Given the description of an element on the screen output the (x, y) to click on. 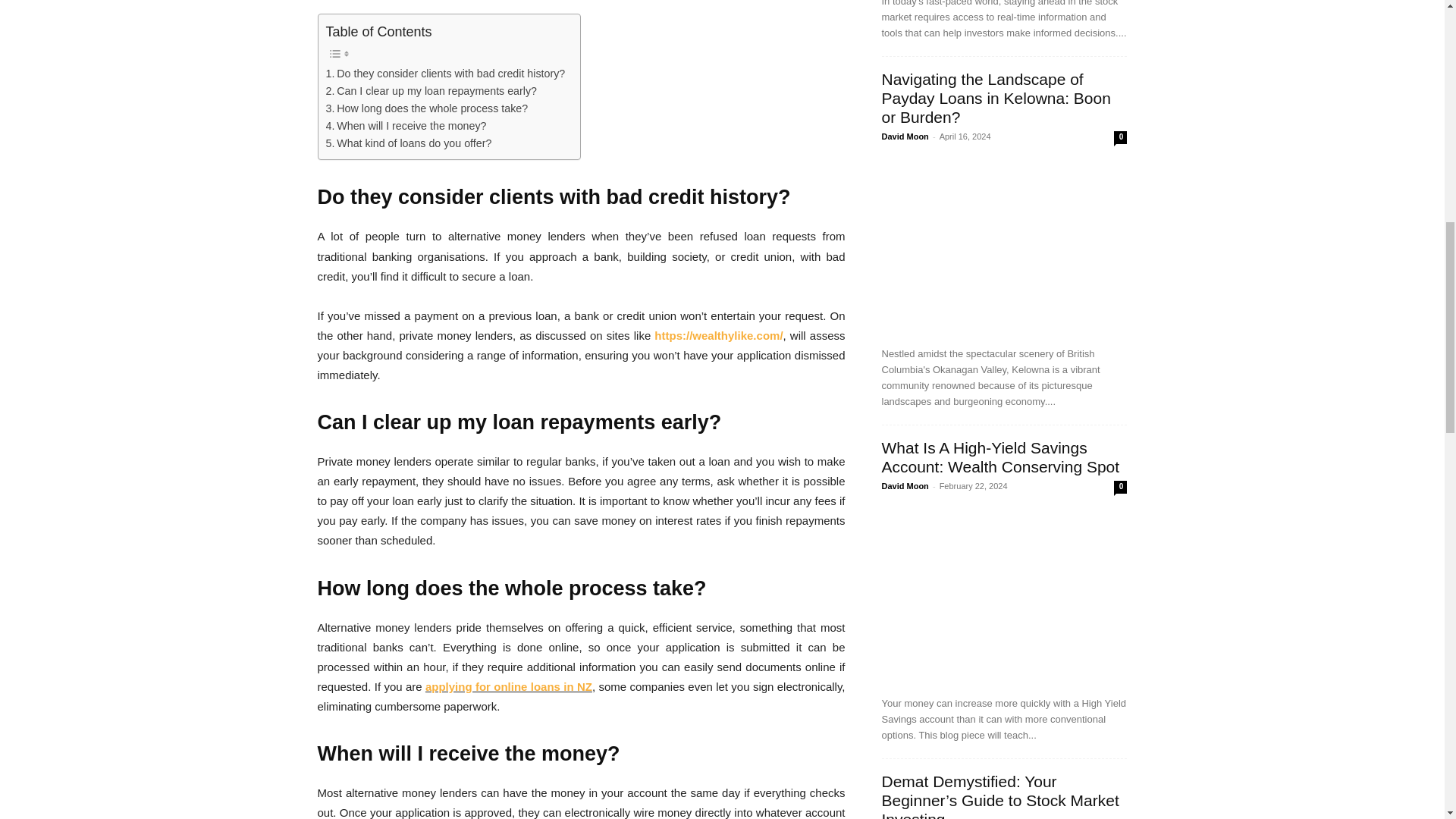
Can I clear up my loan repayments early? (431, 90)
Do they consider clients with bad credit history? (446, 73)
When will I receive the money? (406, 126)
How long does the whole process take? (427, 108)
When will I receive the money? (406, 126)
Do they consider clients with bad credit history? (446, 73)
What kind of loans do you offer? (409, 143)
How long does the whole process take? (427, 108)
Can I clear up my loan repayments early? (431, 90)
applying for online loans in NZ (508, 686)
What kind of loans do you offer? (409, 143)
